Given the description of an element on the screen output the (x, y) to click on. 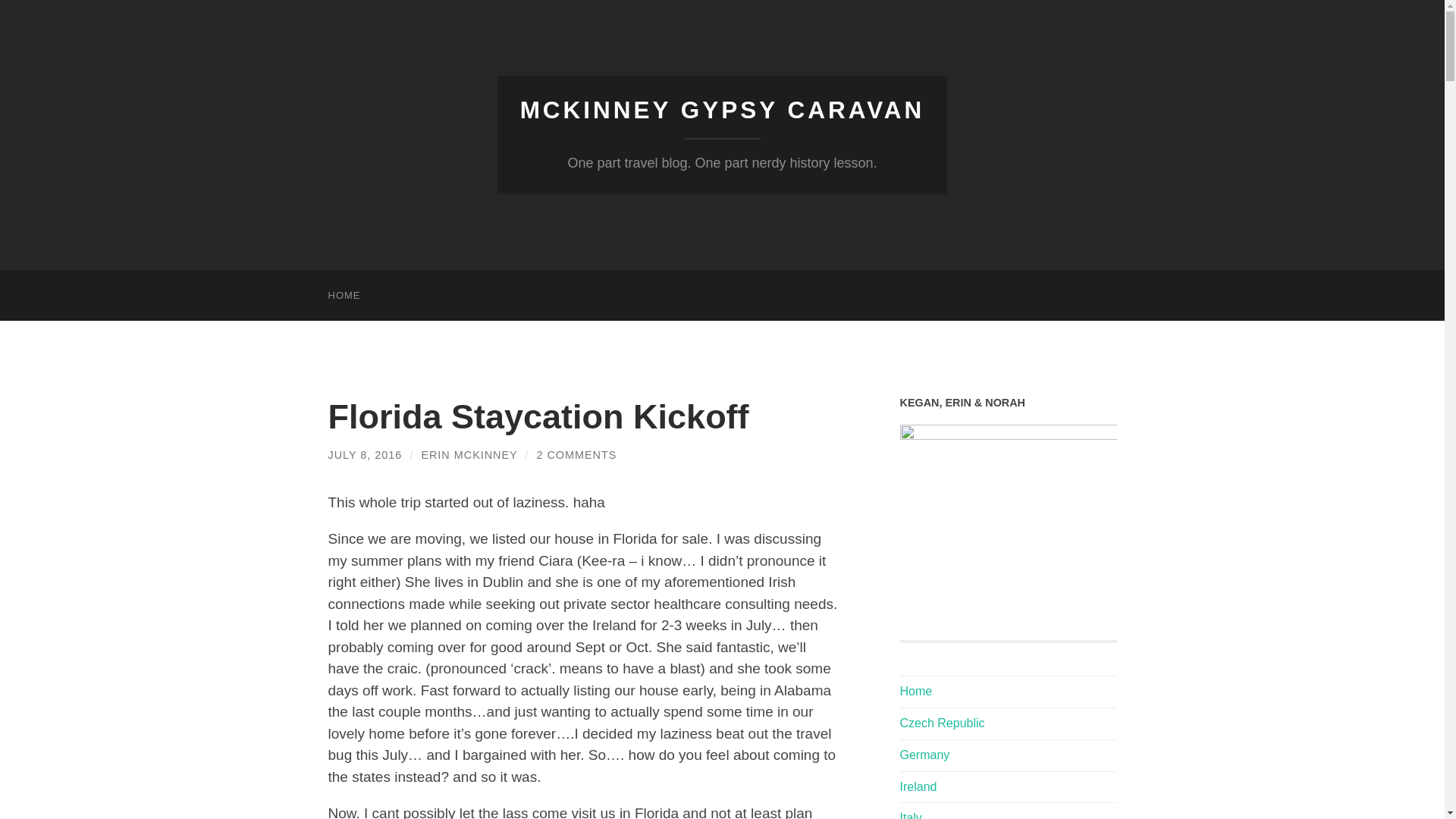
MCKINNEY GYPSY CARAVAN (721, 109)
Posts by Erin McKinney (468, 454)
JULY 8, 2016 (364, 454)
ERIN MCKINNEY (468, 454)
2 COMMENTS (575, 454)
HOME (344, 295)
